Given the description of an element on the screen output the (x, y) to click on. 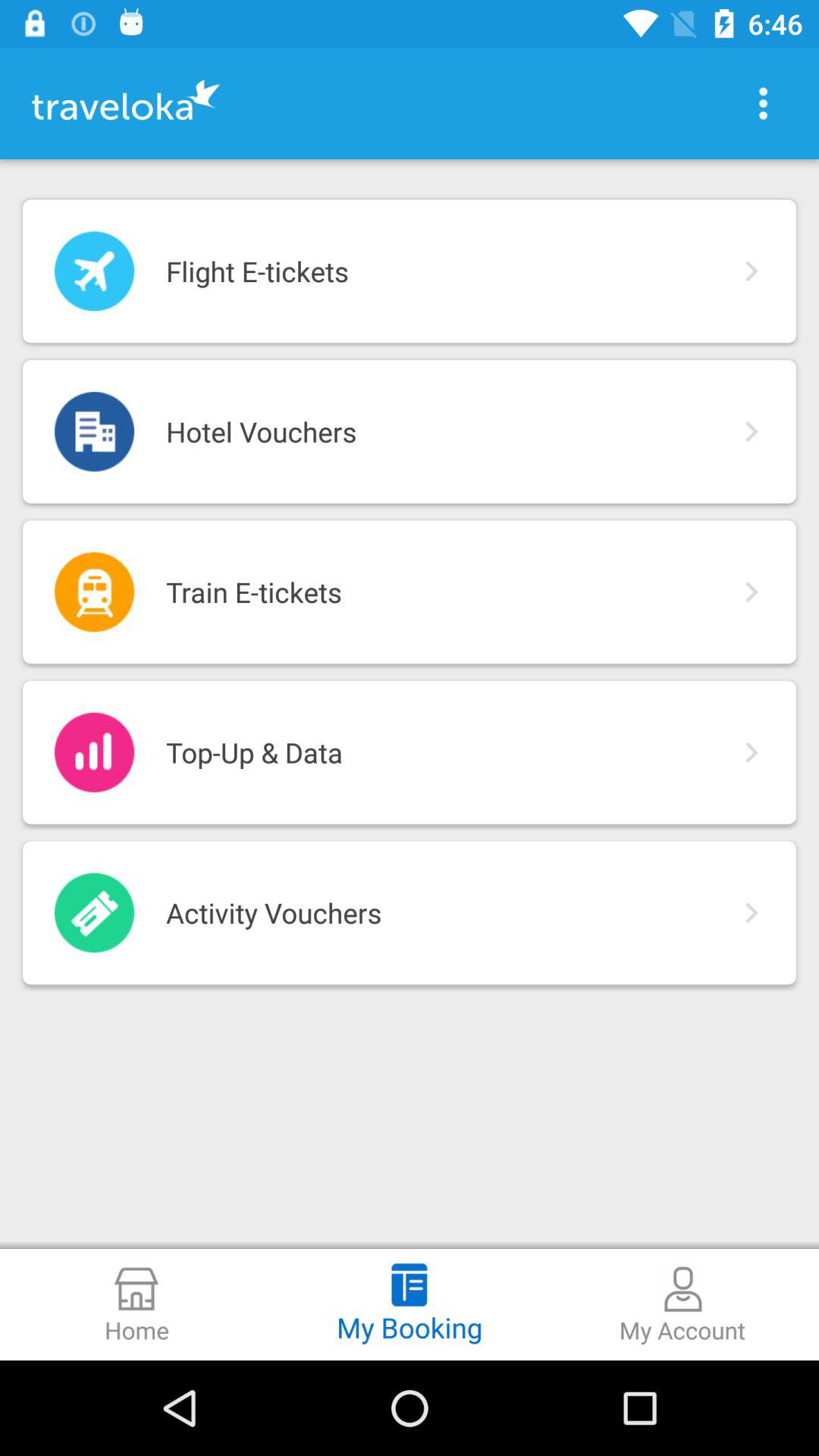
go to top of my account (682, 1289)
